Given the description of an element on the screen output the (x, y) to click on. 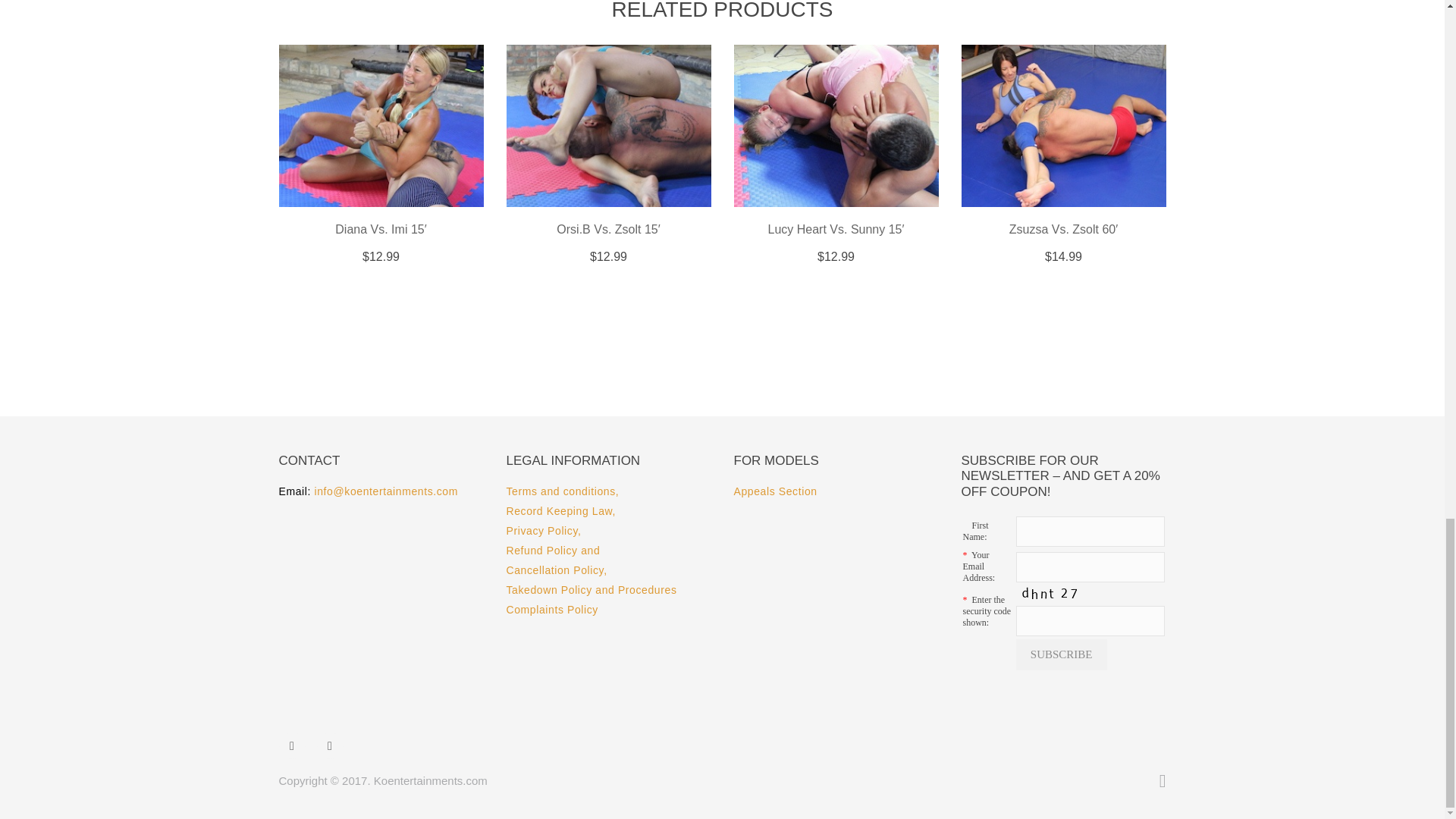
Subscribe (1061, 654)
